Given the description of an element on the screen output the (x, y) to click on. 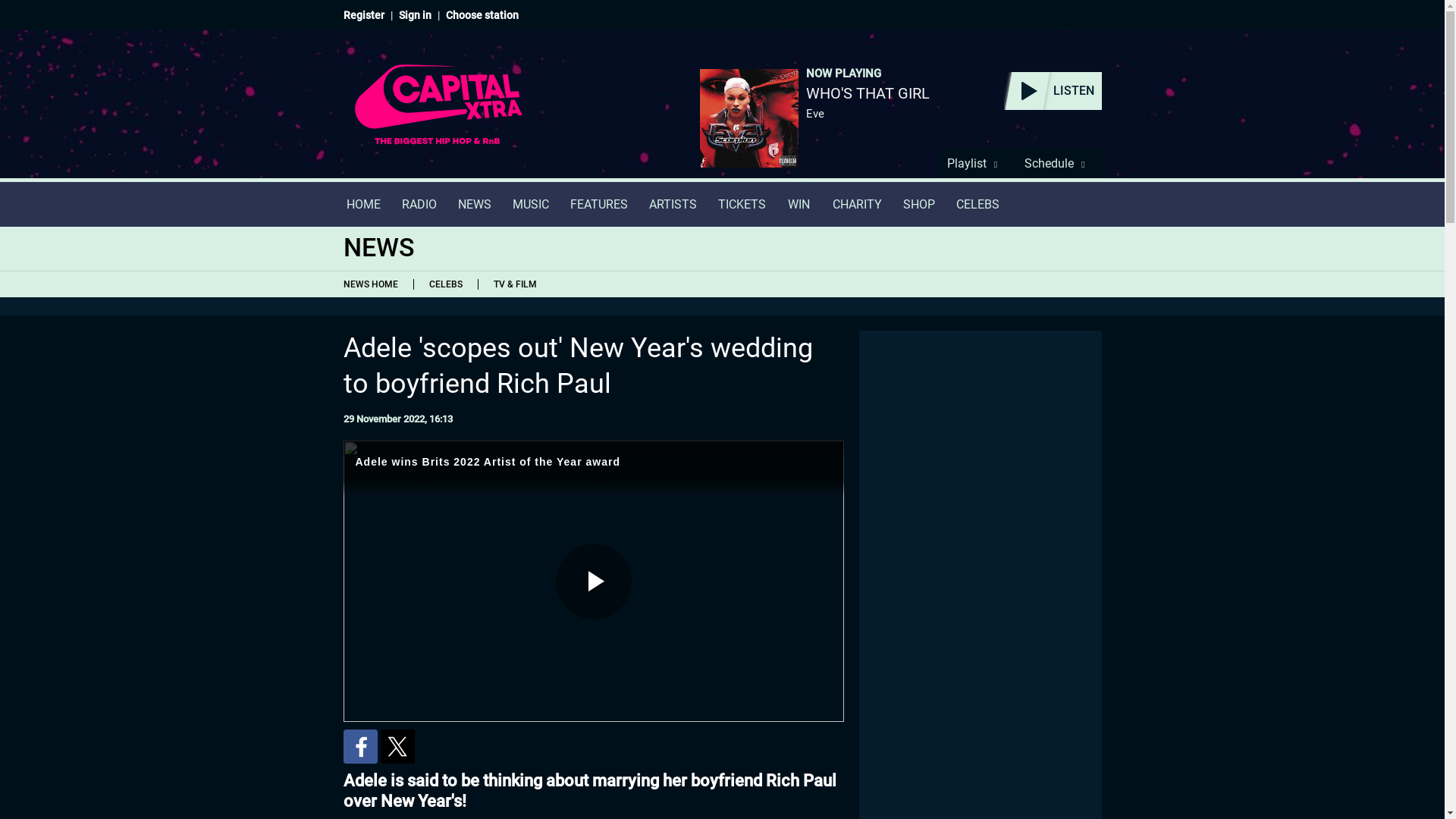
NEWS (474, 203)
CELEBS (976, 203)
CELEBS (444, 284)
CHARITY (857, 203)
NEWS HOME (373, 284)
Capital XTRA (437, 113)
Sign in (414, 15)
HOME (362, 203)
LISTEN (1053, 90)
Choose station (481, 15)
